Given the description of an element on the screen output the (x, y) to click on. 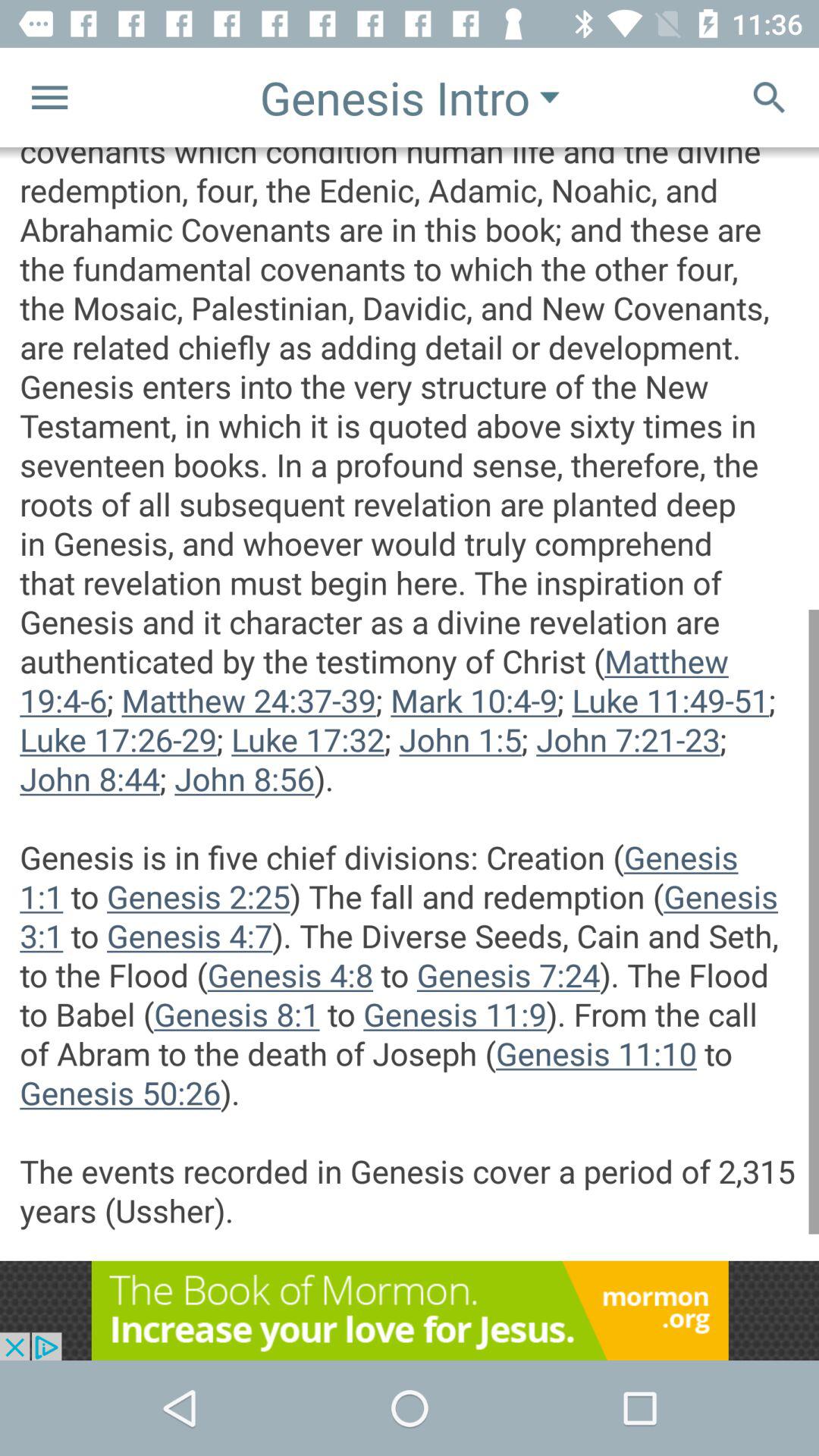
search article (769, 97)
